Given the description of an element on the screen output the (x, y) to click on. 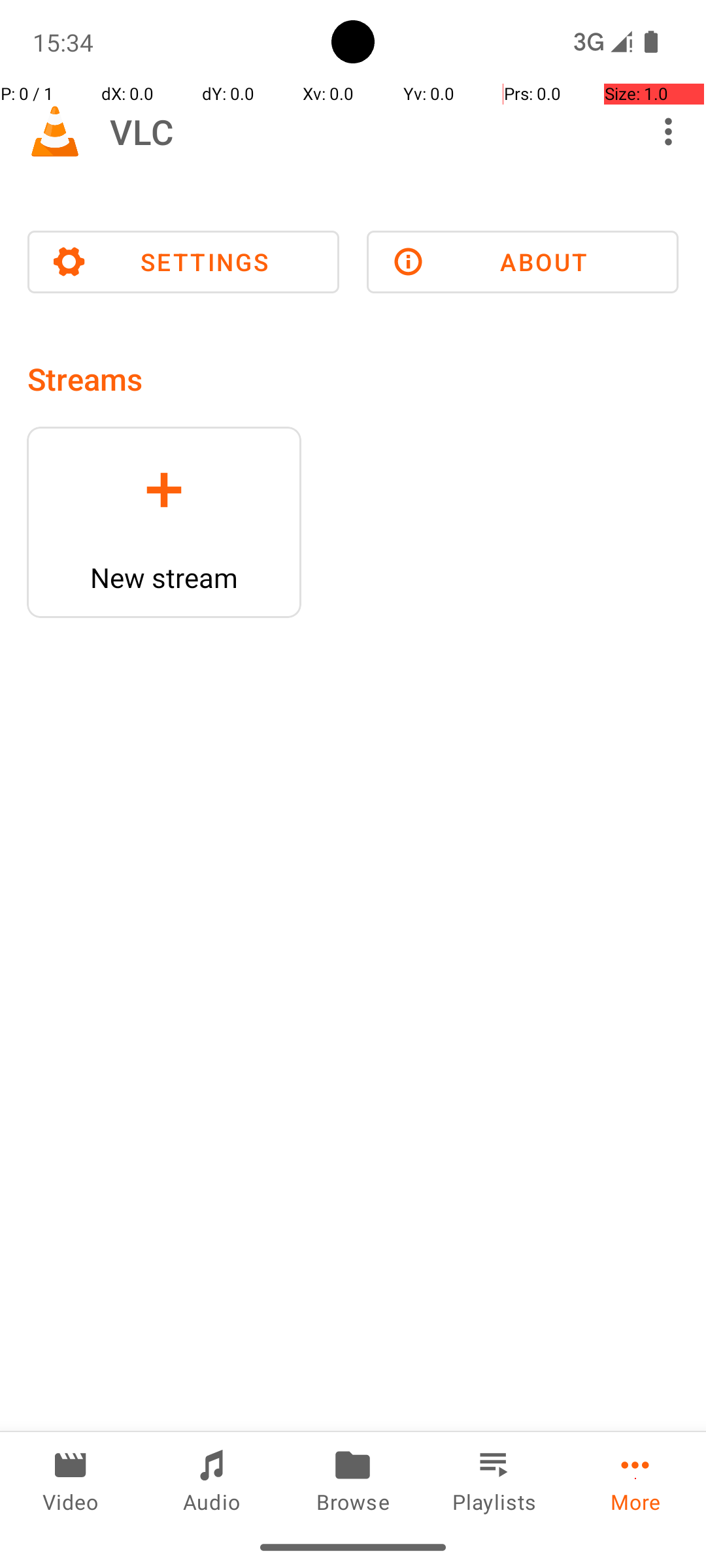
SETTINGS Element type: android.widget.Button (183, 261)
ABOUT Element type: android.widget.Button (522, 261)
Streams Element type: android.widget.TextView (84, 378)
New stream Element type: android.widget.TextView (163, 576)
